Given the description of an element on the screen output the (x, y) to click on. 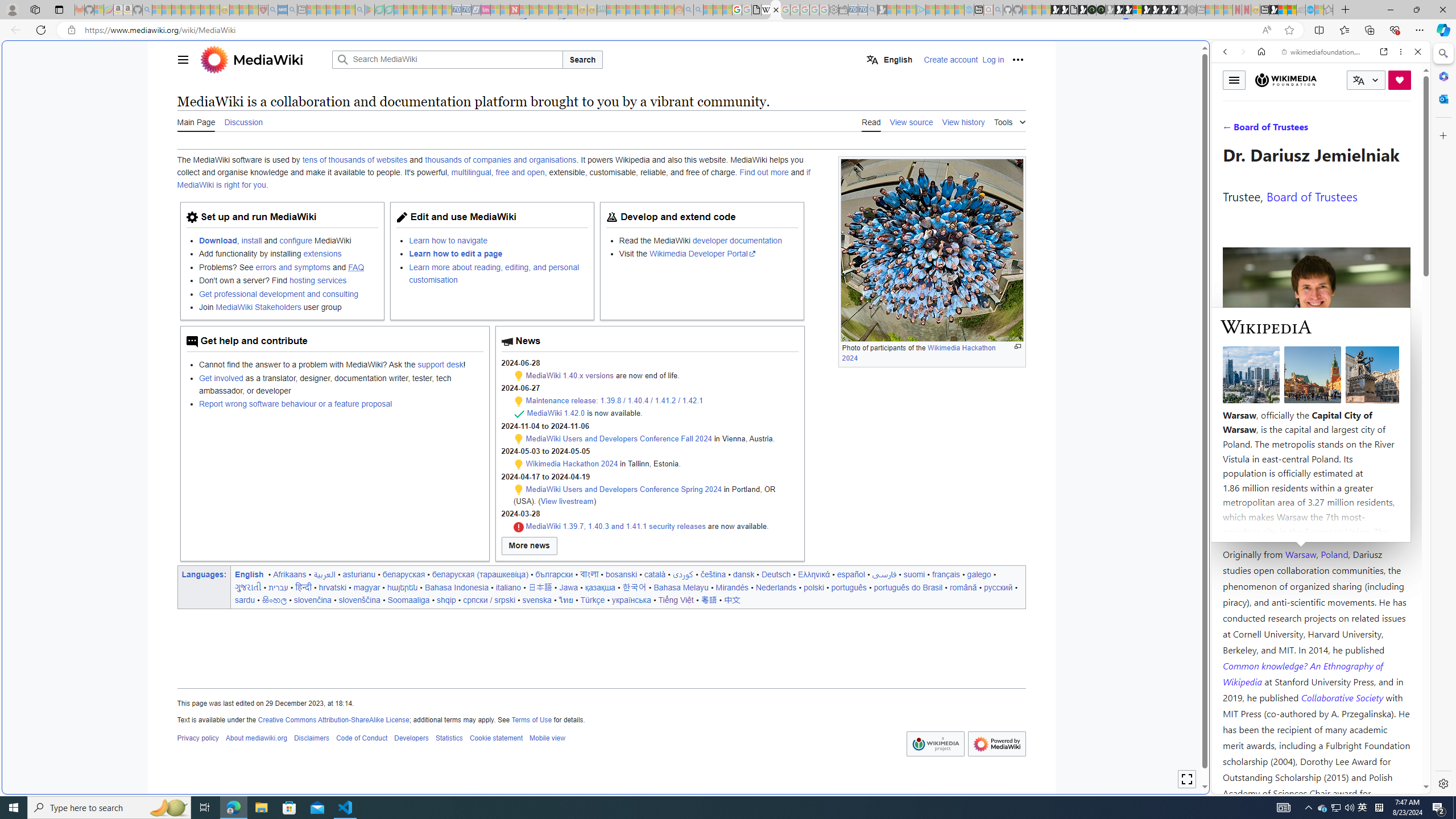
Warsaw (1300, 554)
hosting services (317, 280)
View livestream (567, 500)
Tools (1009, 120)
Creative Commons Attribution-ShareAlike License (333, 719)
Get involved (220, 377)
Get professional development and consulting (278, 293)
Disclaimers (311, 738)
Mobile view (546, 738)
